Given the description of an element on the screen output the (x, y) to click on. 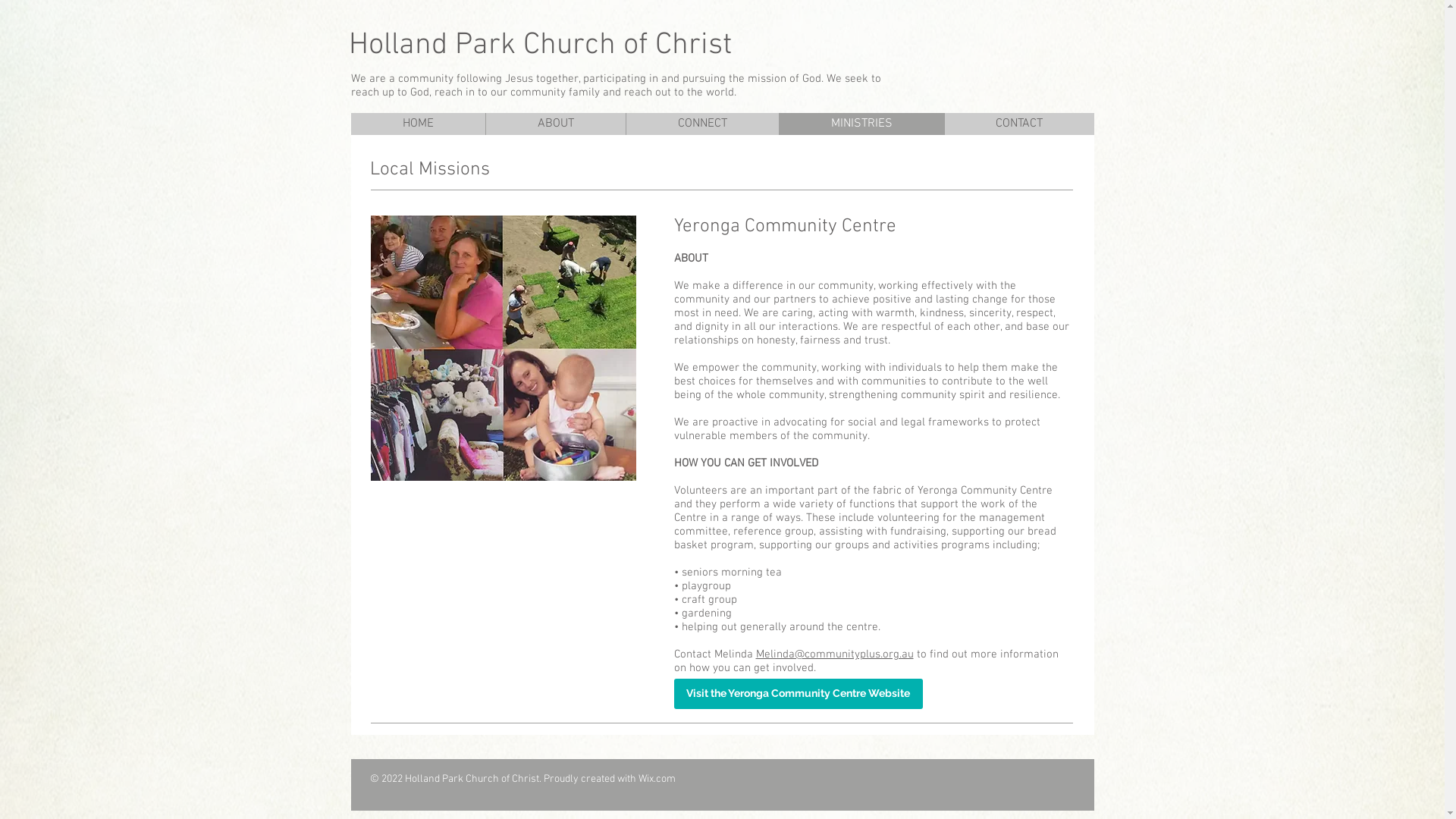
Holland Park Church of Christ Element type: text (539, 45)
CONNECT Element type: text (701, 123)
Melinda@communityplus.org.au Element type: text (834, 654)
Wix.com Element type: text (656, 778)
Visit the Yeronga Community Centre Website Element type: text (797, 693)
HOME Element type: text (417, 123)
MINISTRIES Element type: text (860, 123)
CONTACT Element type: text (1018, 123)
ABOUT Element type: text (555, 123)
